Given the description of an element on the screen output the (x, y) to click on. 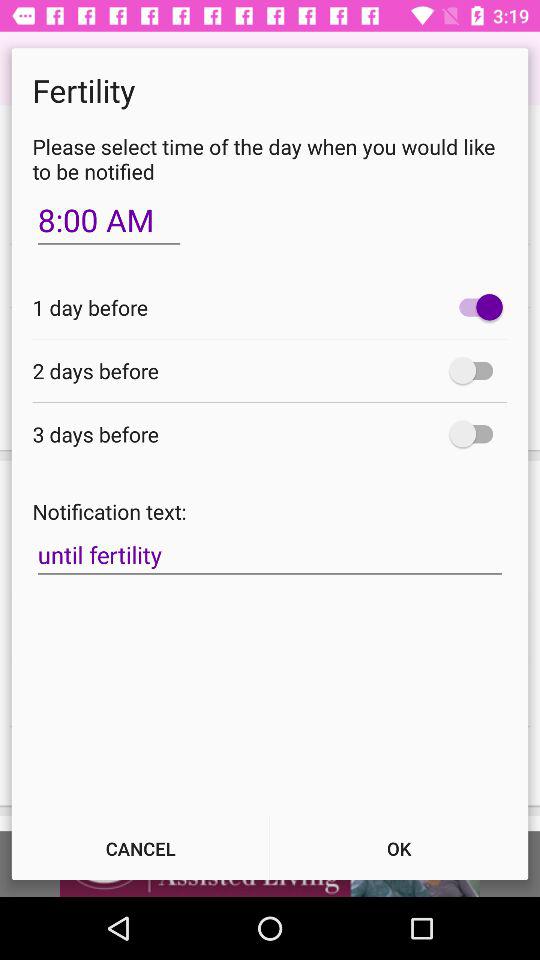
choose the item at the bottom right corner (399, 848)
